Given the description of an element on the screen output the (x, y) to click on. 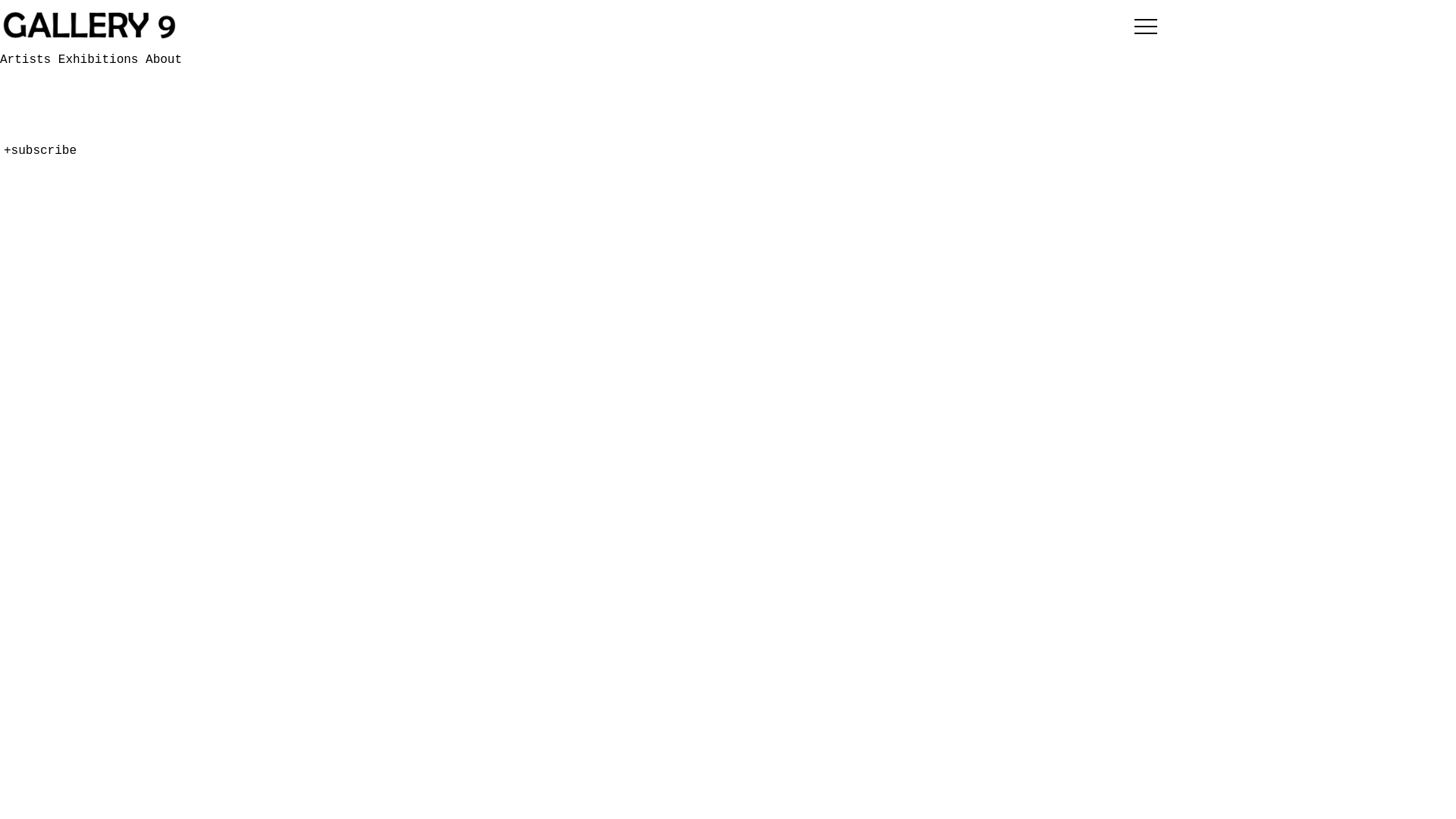
About Element type: text (163, 59)
+subscribe Element type: text (40, 267)
+subscribe Element type: text (40, 150)
Artists Element type: text (25, 140)
About Element type: text (18, 176)
Exhibitions Element type: text (101, 59)
Exhibitions Element type: text (40, 158)
Artists Element type: text (29, 59)
SUBSCRIBE Element type: text (54, 110)
